Given the description of an element on the screen output the (x, y) to click on. 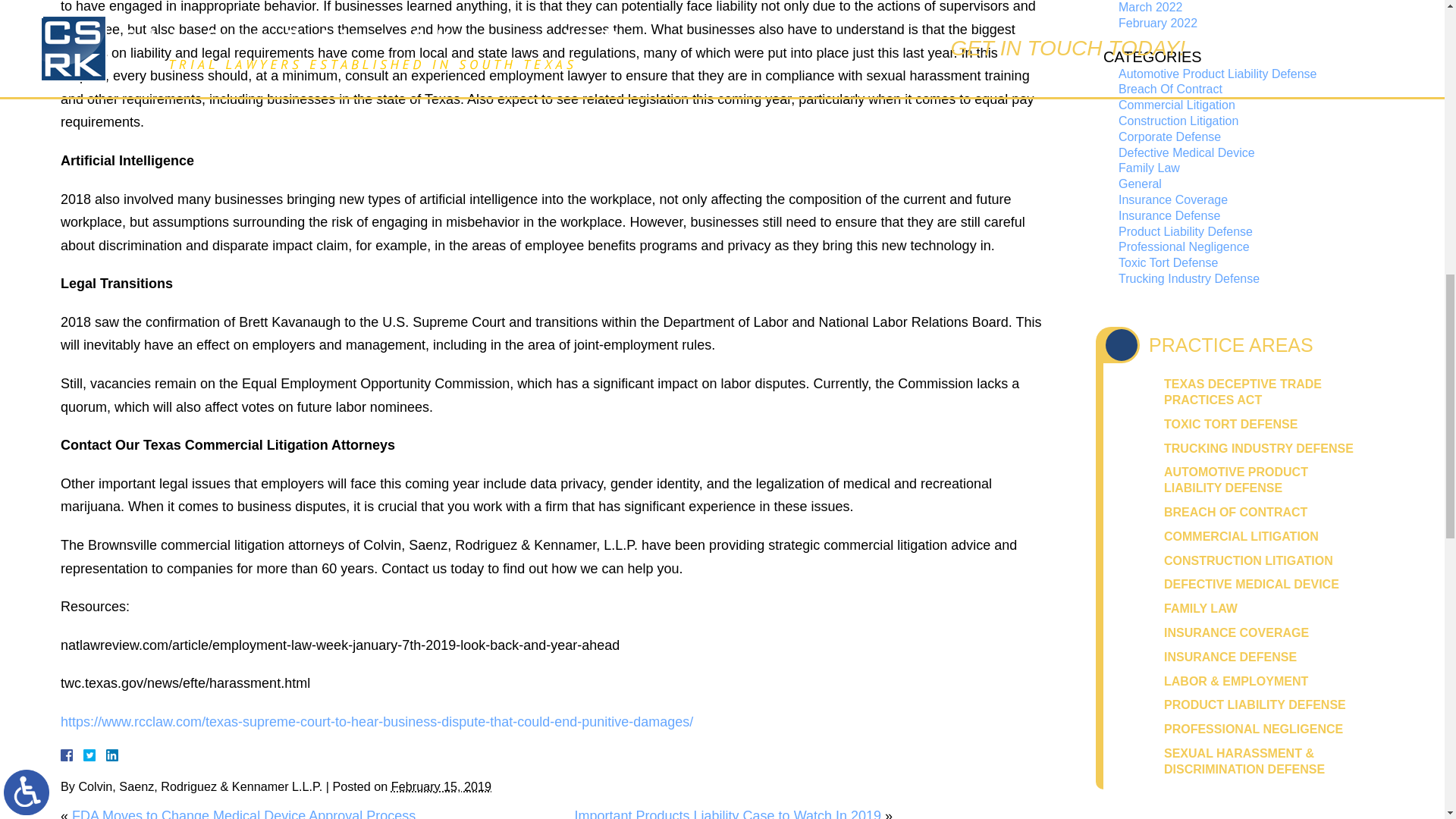
FDA Moves to Change Medical Device Approval Process (242, 813)
Twitter (95, 755)
2019-02-15T03:00:29-0800 (441, 786)
Important Products Liability Case to Watch In 2019 (728, 813)
LinkedIn (106, 755)
Facebook (85, 755)
